Given the description of an element on the screen output the (x, y) to click on. 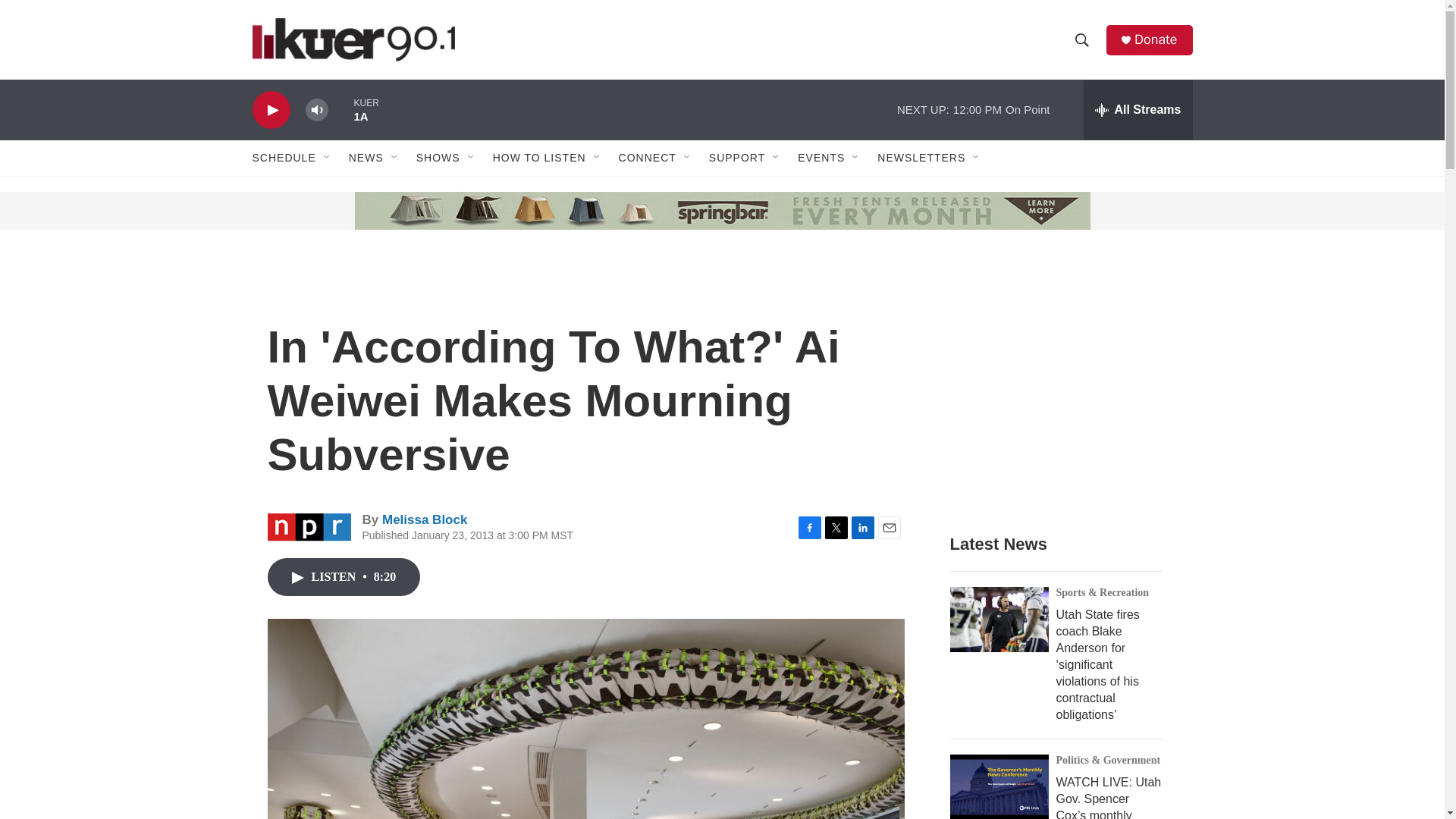
3rd party ad content (367, 210)
3rd party ad content (1062, 388)
